Given the description of an element on the screen output the (x, y) to click on. 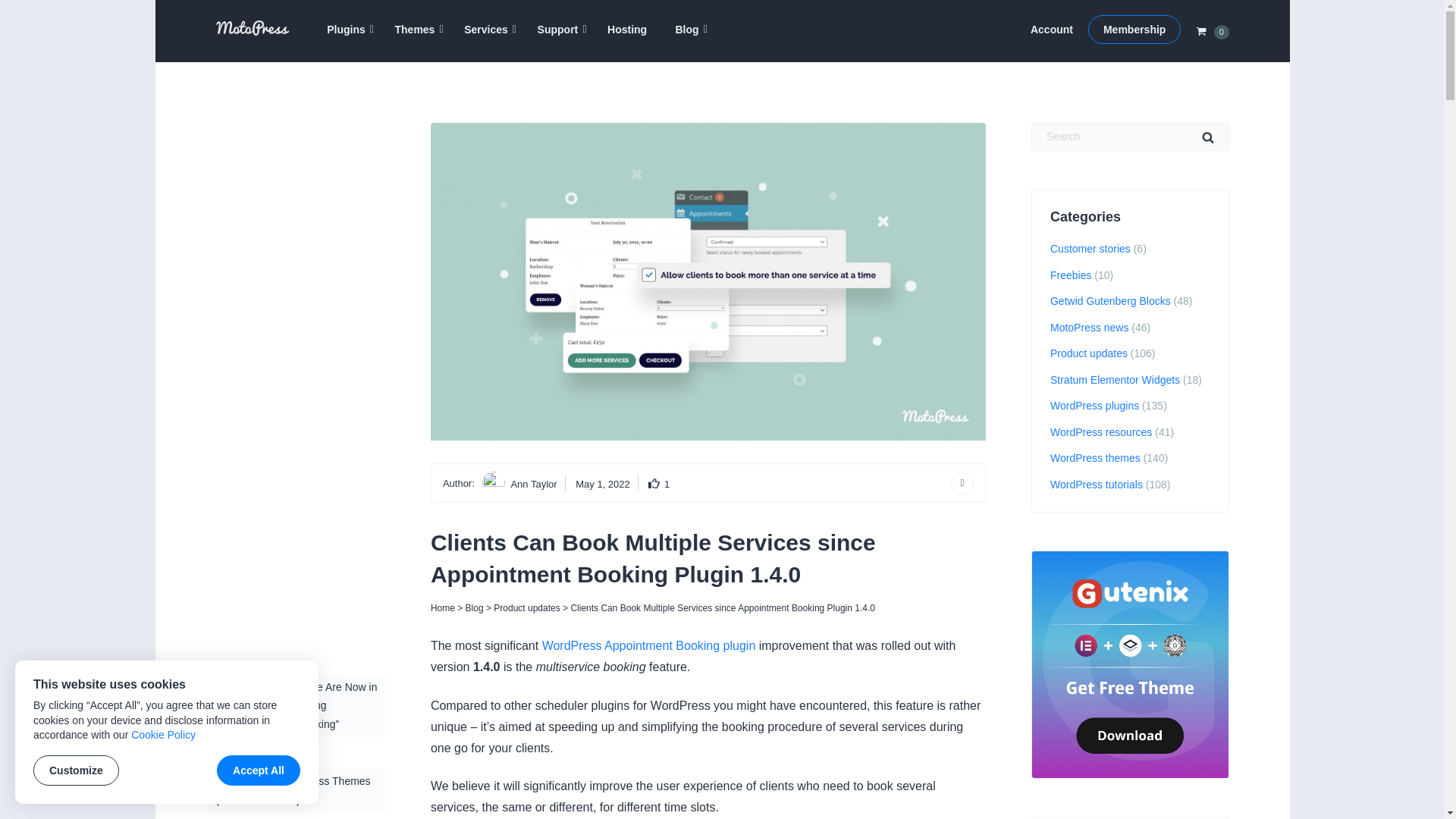
WordPress Themes (414, 29)
Plugins (346, 29)
Themes (414, 29)
WordPress Plugins (346, 29)
MotoPress (244, 51)
